Given the description of an element on the screen output the (x, y) to click on. 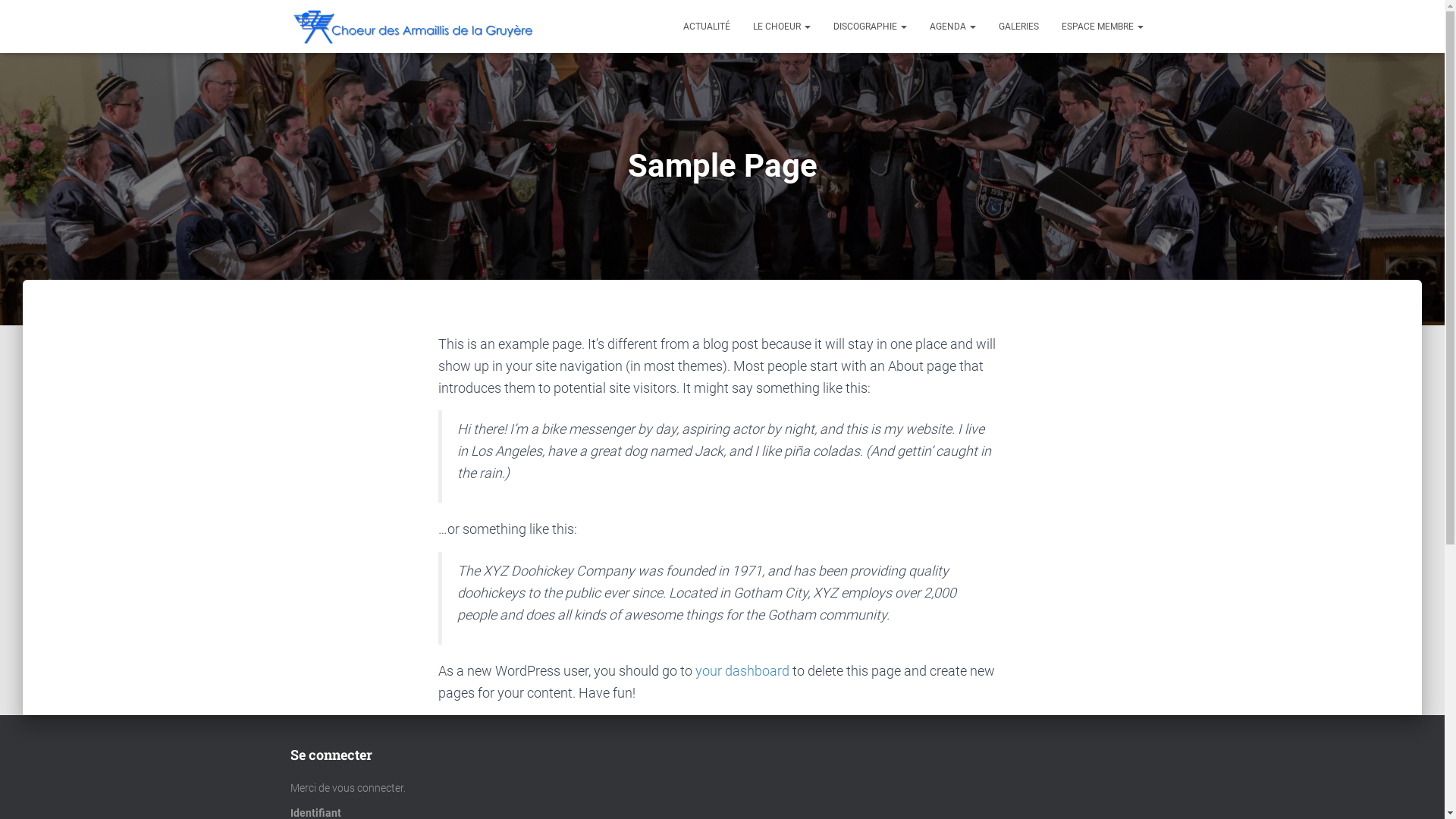
GALERIES Element type: text (1018, 26)
LE CHOEUR Element type: text (781, 26)
your dashboard Element type: text (741, 670)
ESPACE MEMBRE Element type: text (1101, 26)
AGENDA Element type: text (951, 26)
DISCOGRAPHIE Element type: text (870, 26)
